Given the description of an element on the screen output the (x, y) to click on. 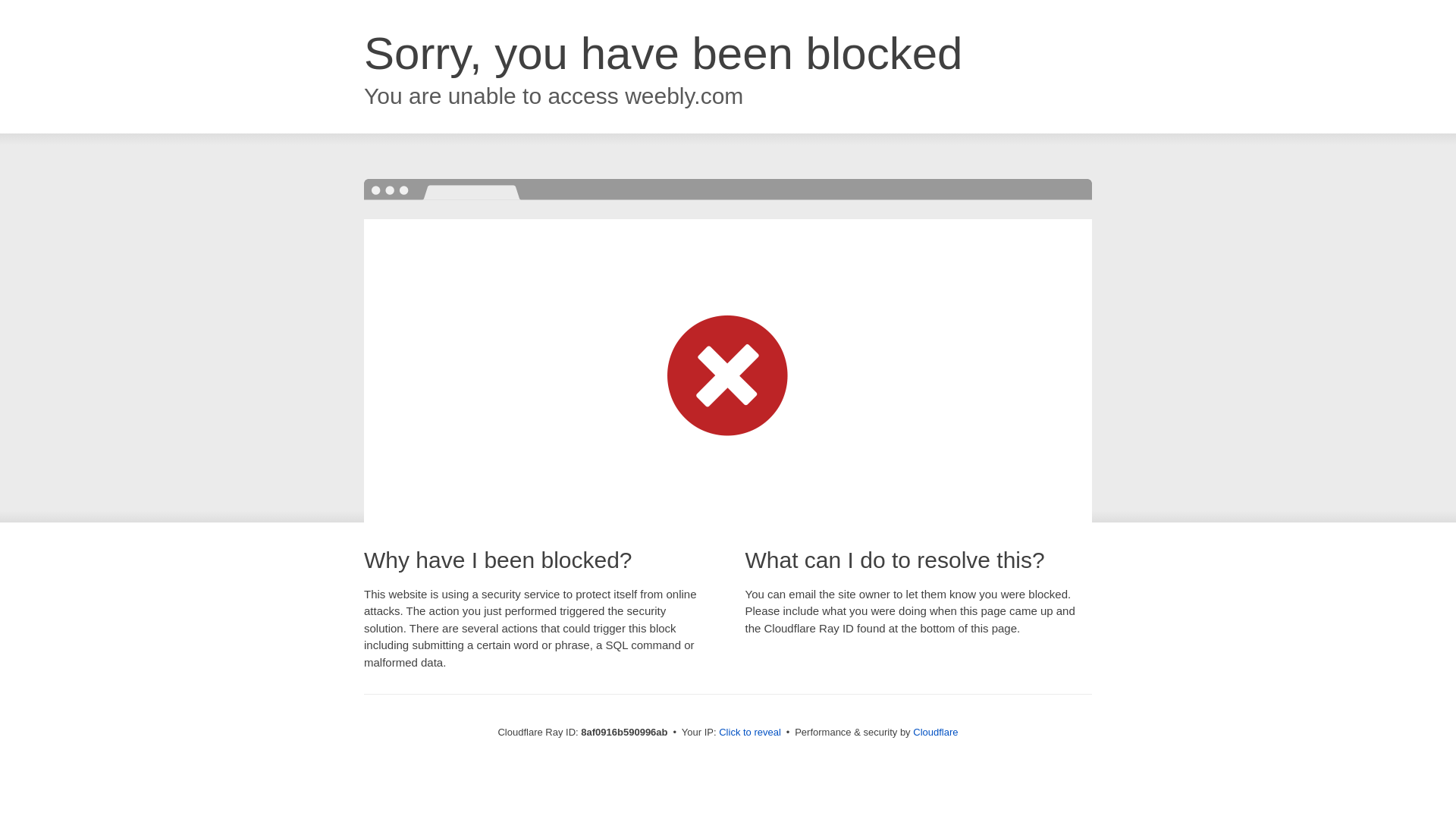
Click to reveal (749, 732)
Cloudflare (935, 731)
